Given the description of an element on the screen output the (x, y) to click on. 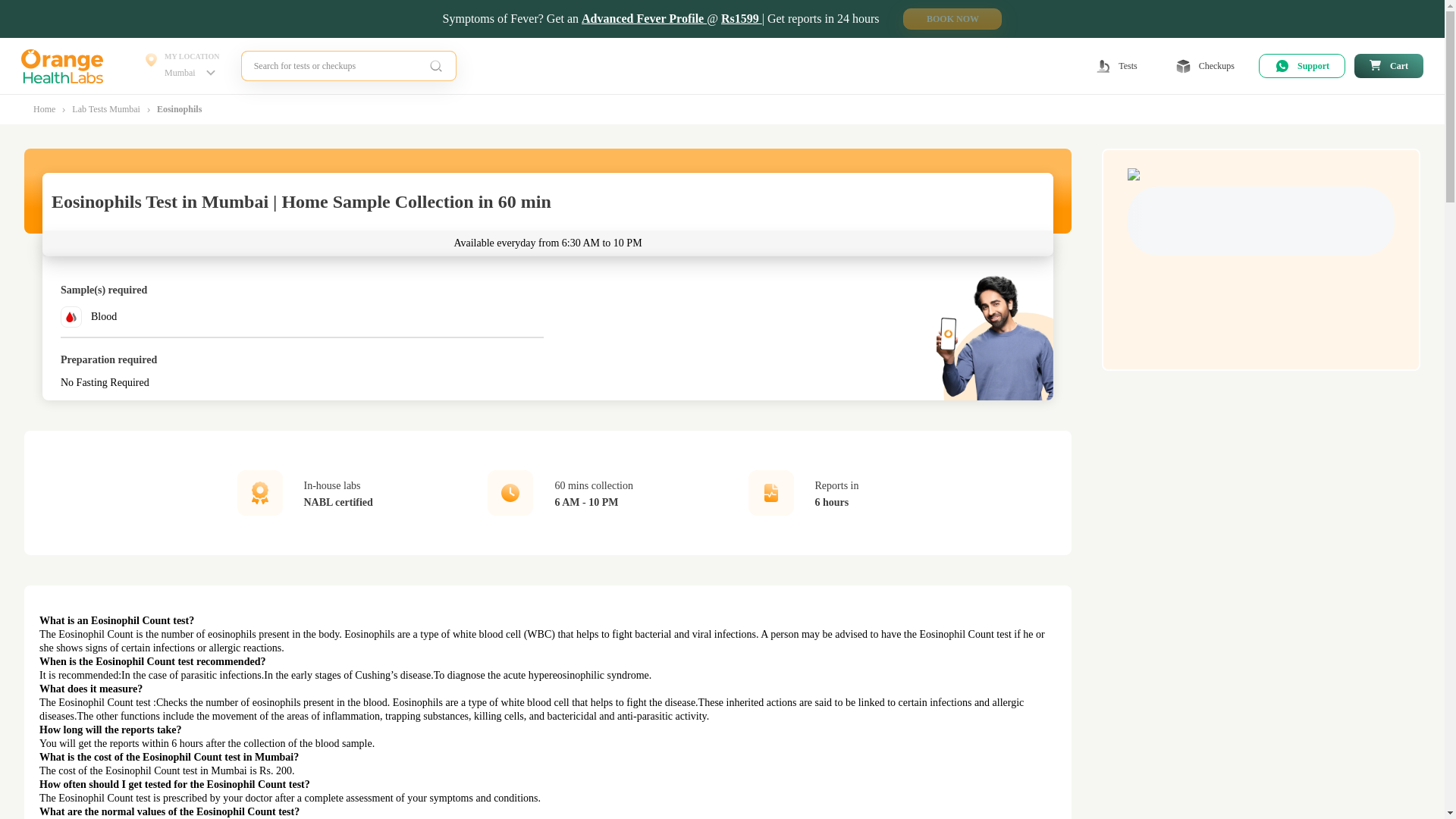
Home (44, 109)
Cart (1388, 65)
 Tests (1116, 65)
BOOK NOW (951, 18)
Support (1302, 65)
 Checkups (182, 65)
Lab Tests Mumbai (1205, 65)
